Given the description of an element on the screen output the (x, y) to click on. 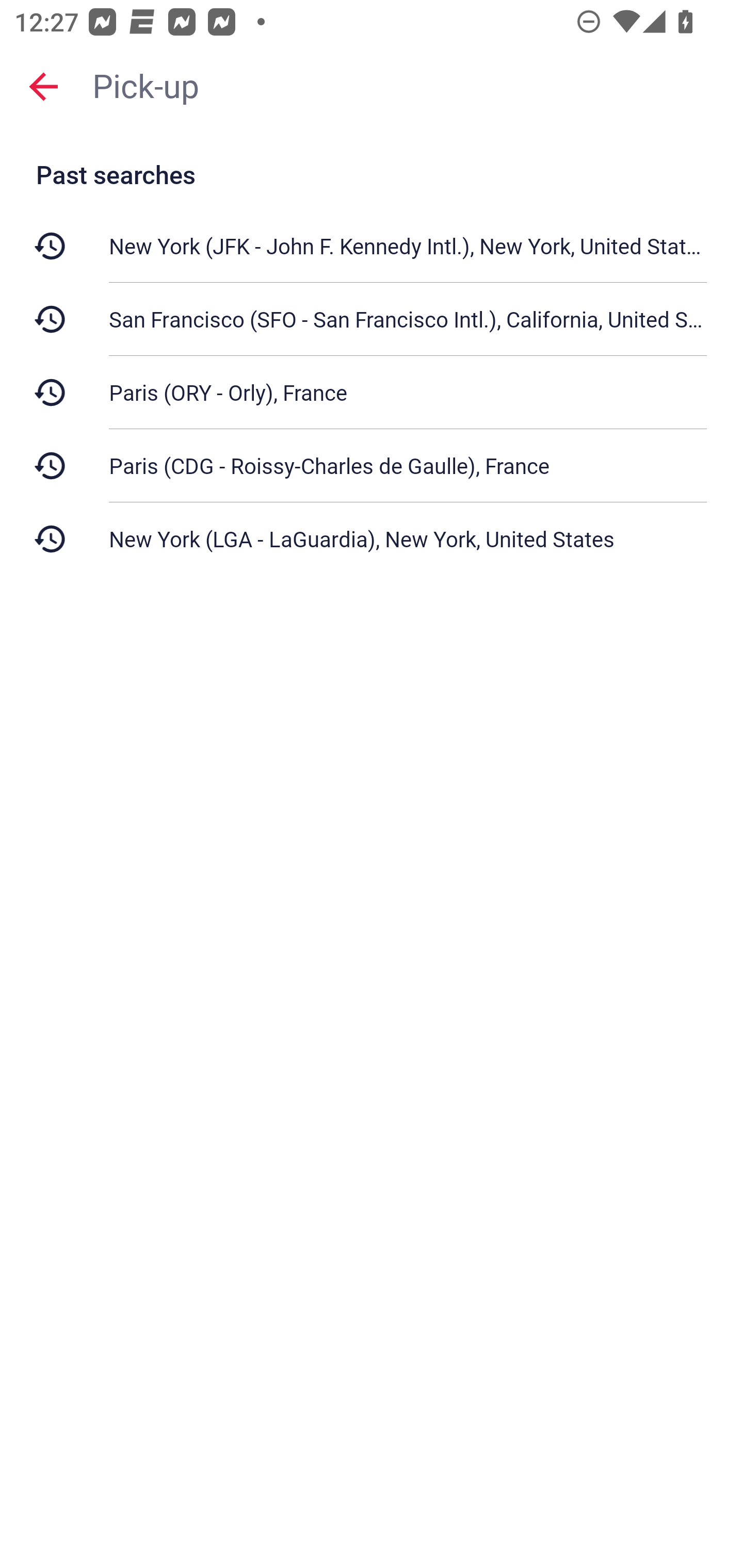
Pick-up,  (407, 85)
Close search screen (43, 86)
